Given the description of an element on the screen output the (x, y) to click on. 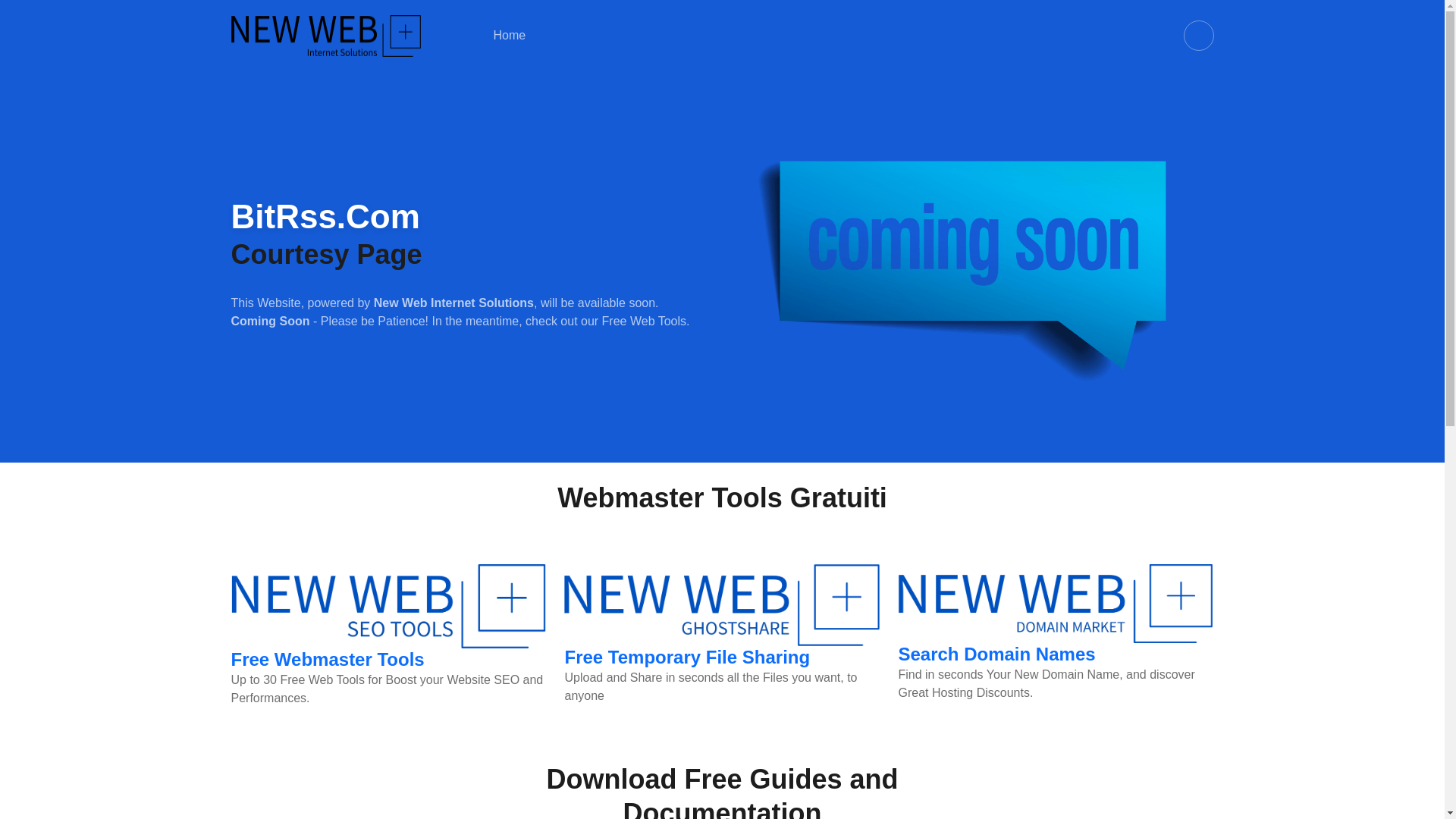
Search Domain Names (996, 653)
New Web Network (508, 35)
Free Webmaster Tools (326, 659)
Home (508, 35)
NWN Solutions (325, 34)
Free Temporary File Sharing (686, 657)
